Given the description of an element on the screen output the (x, y) to click on. 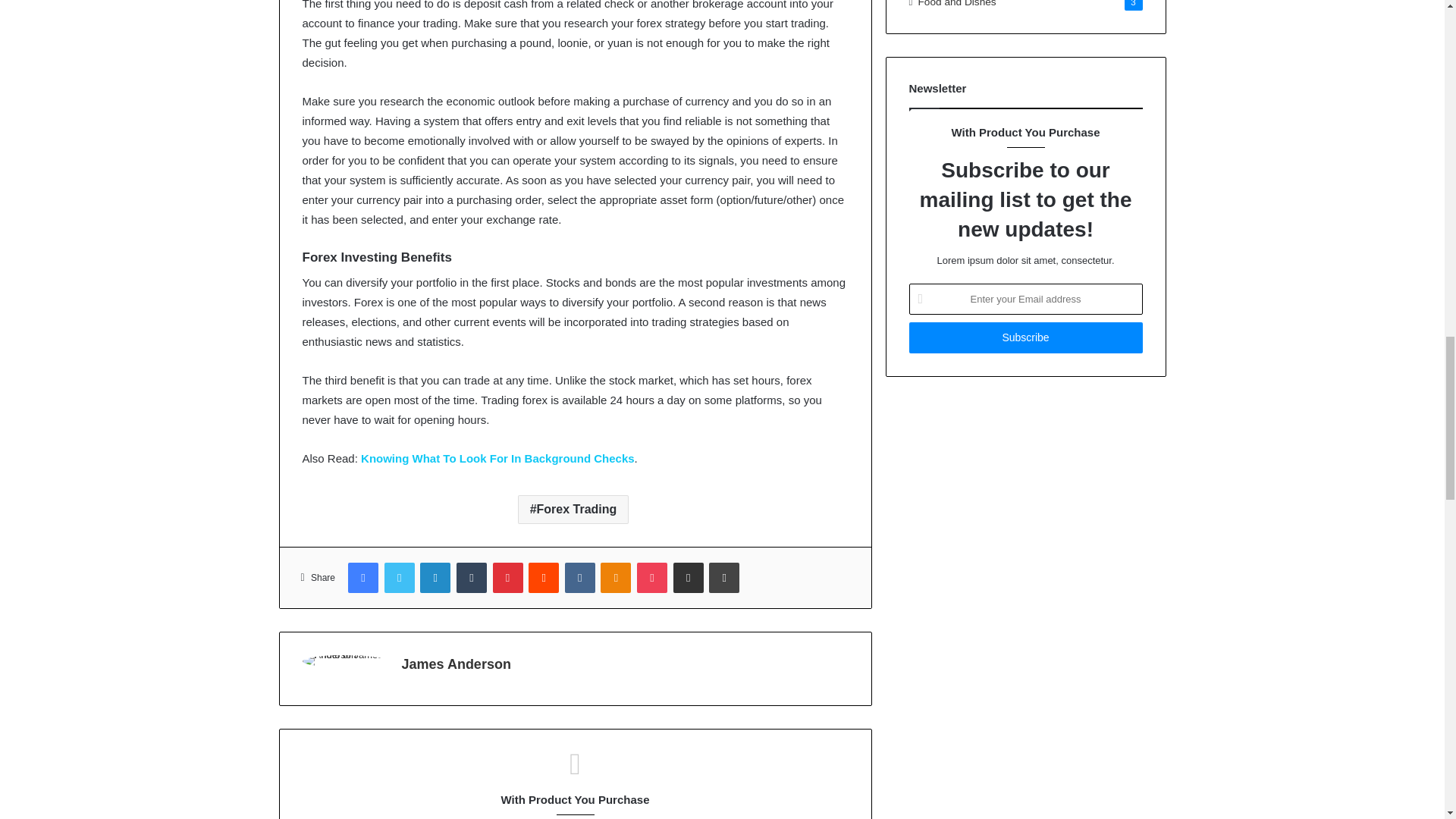
Subscribe (1025, 337)
